Given the description of an element on the screen output the (x, y) to click on. 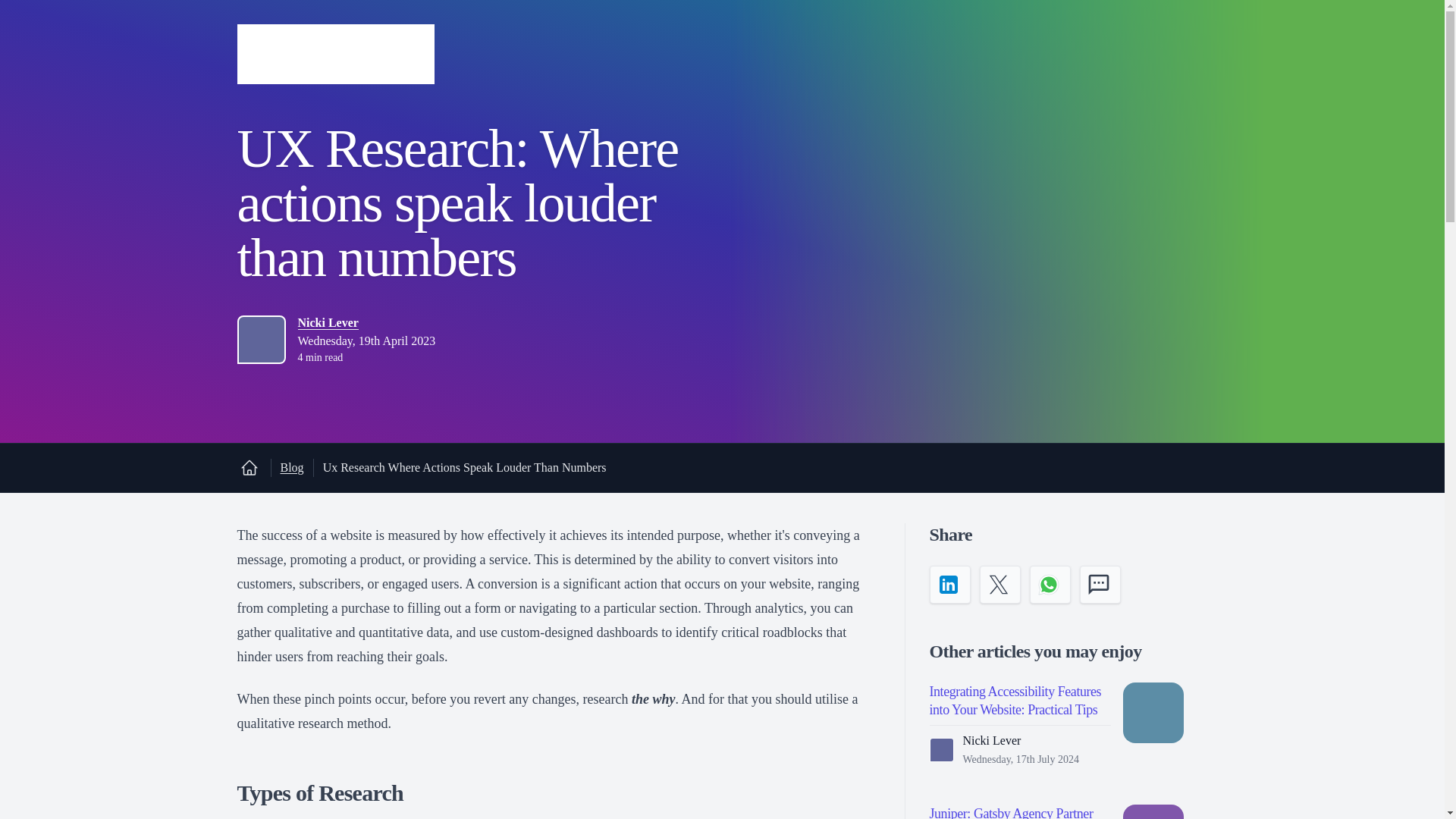
Share to LinkedIn (950, 584)
Share via Whatsapp (1049, 584)
Send by SMS (1100, 584)
Home (247, 467)
Share on Twitter (999, 584)
Blog (292, 467)
Nicki Lever (327, 323)
